Given the description of an element on the screen output the (x, y) to click on. 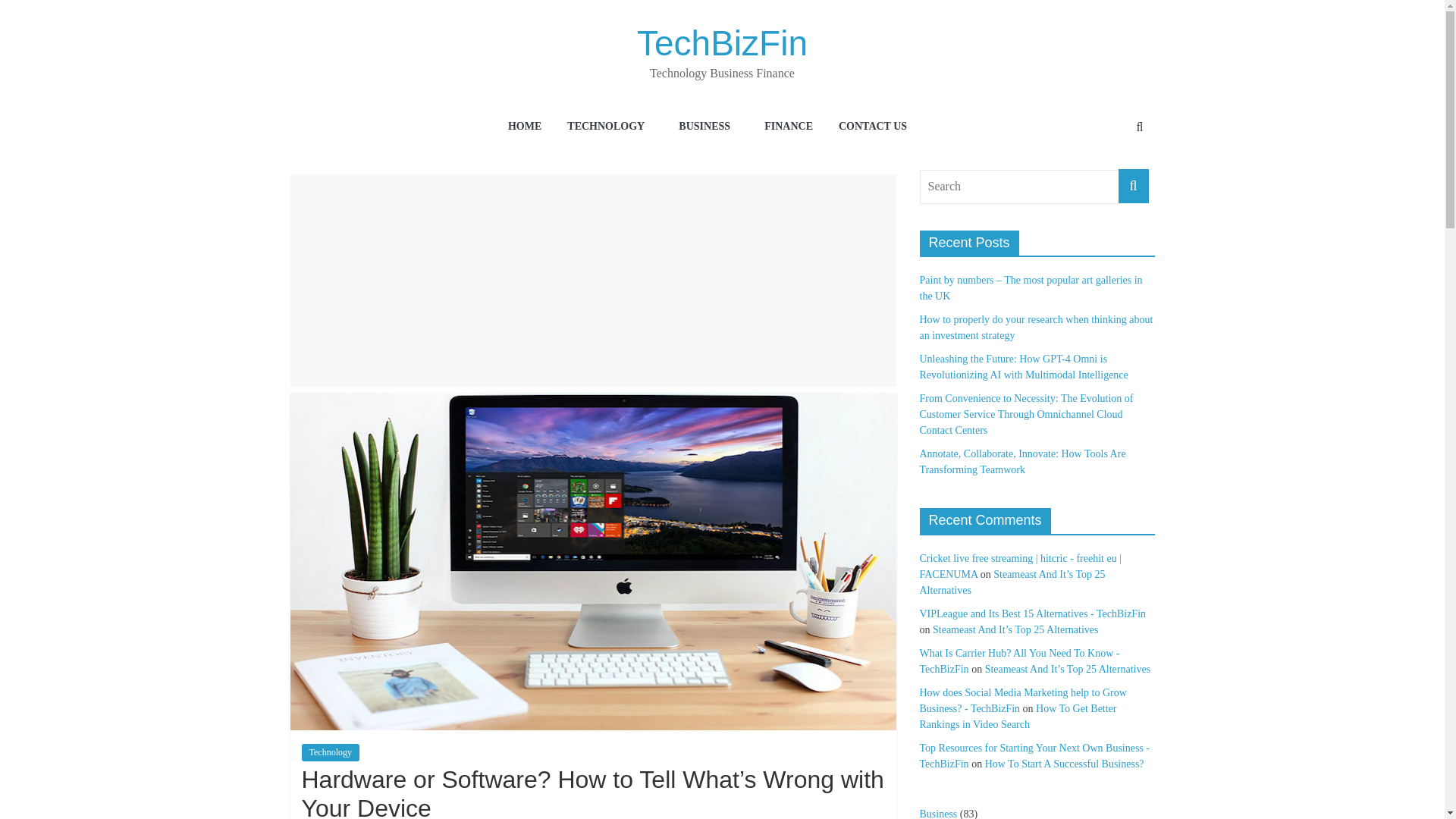
What Is Carrier Hub? All You Need To Know - TechBizFin (1018, 660)
CONTACT US (872, 126)
TechBizFin (722, 43)
TechBizFin (722, 43)
Technology (330, 751)
VIPLeague and Its Best 15 Alternatives - TechBizFin (1031, 613)
BUSINESS (708, 126)
